Given the description of an element on the screen output the (x, y) to click on. 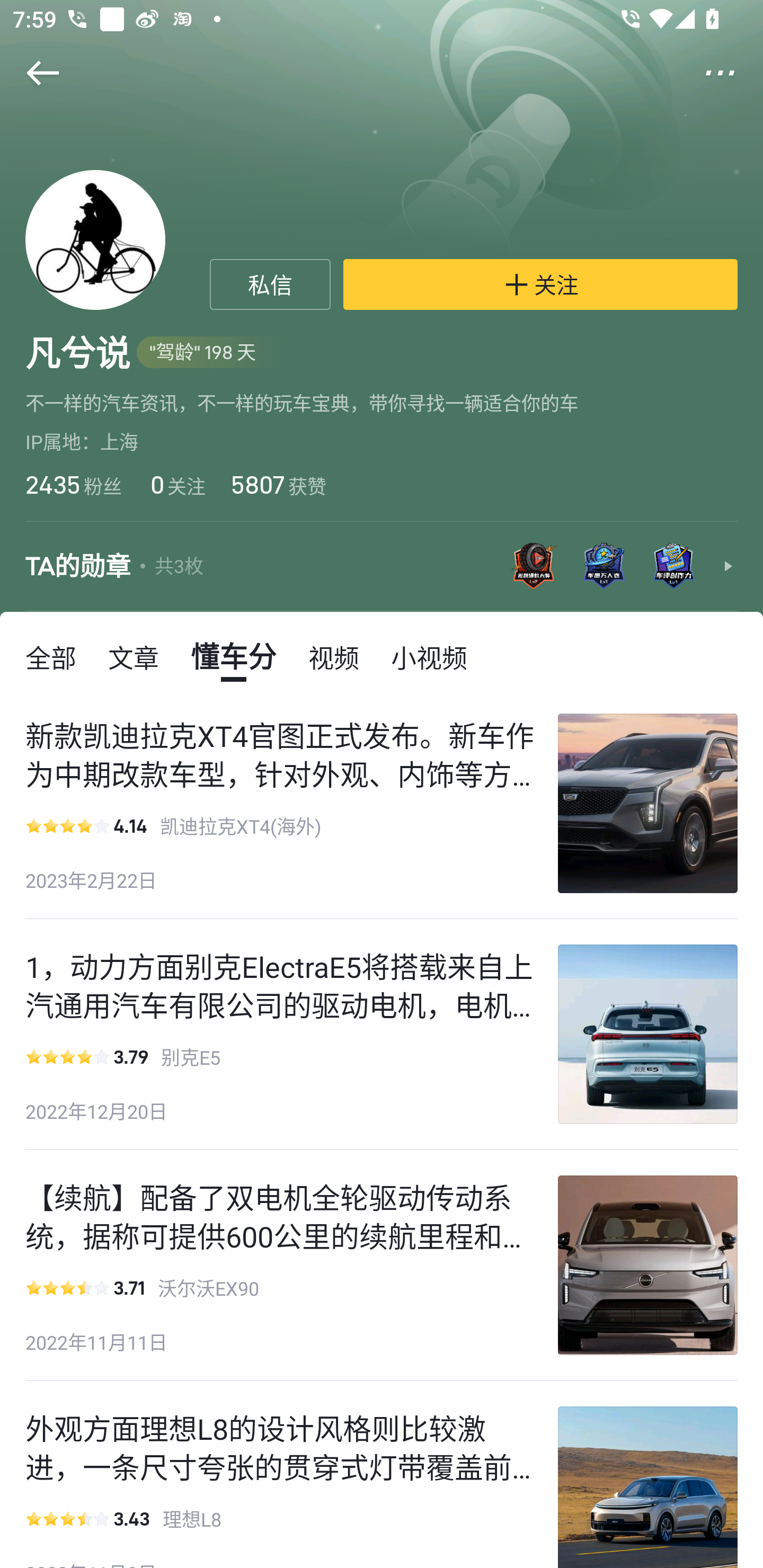
 (30, 72)
 (732, 72)
私信 (269, 284)
 关注 (540, 284)
"驾龄" 198 天 (211, 352)
2435 粉丝 (73, 484)
0 关注 (176, 484)
5807 获赞 (278, 484)
TA的勋章 共3枚  (381, 566)
全部 (50, 656)
文章 (133, 656)
懂车分 (233, 656)
视频 (333, 656)
小视频 (428, 656)
